Given the description of an element on the screen output the (x, y) to click on. 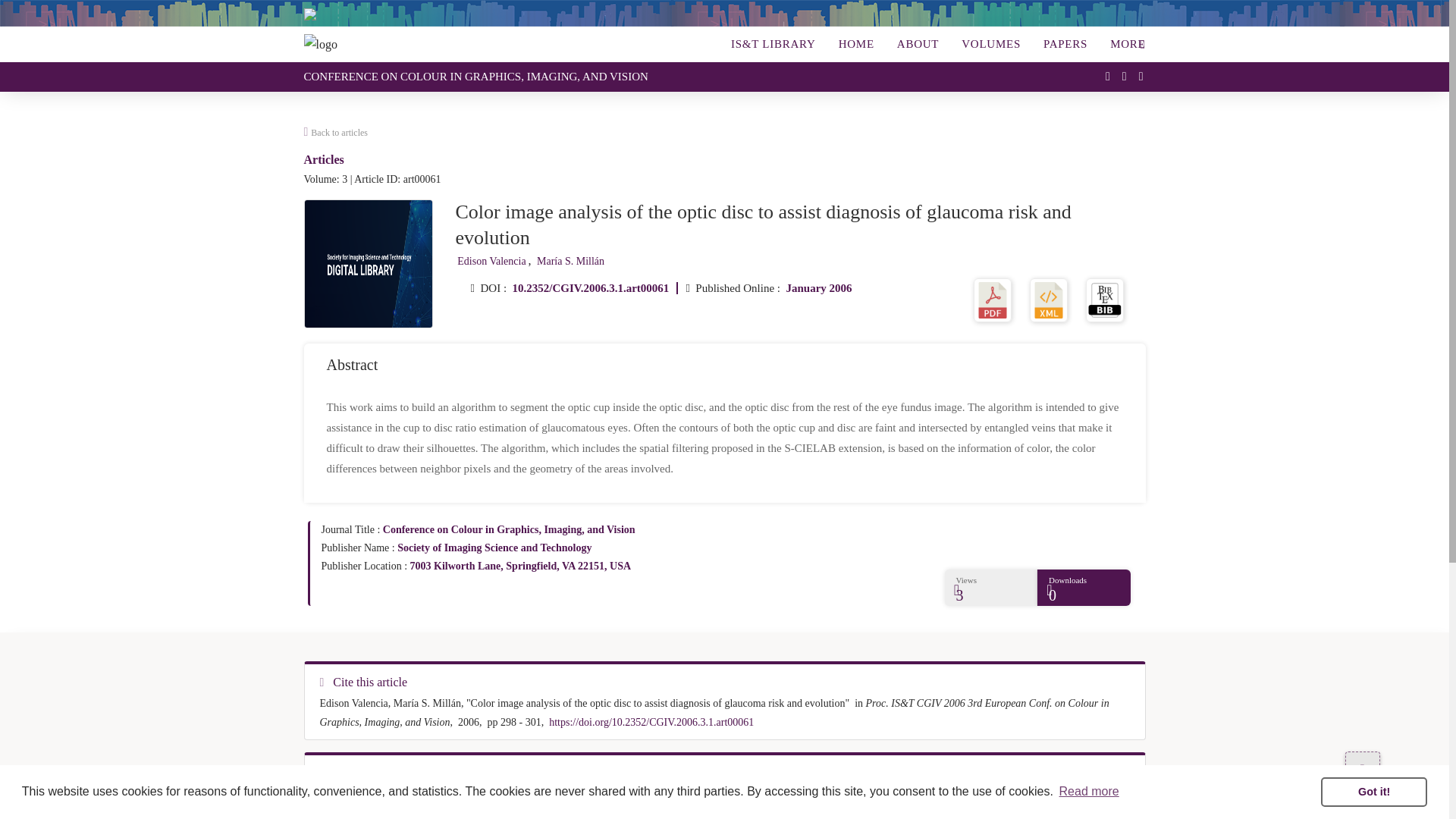
Download XML (1048, 298)
Got it! (1373, 791)
PAPERS (1064, 44)
MORE (1123, 44)
HOME (856, 44)
Read more (1089, 791)
Download PDF (992, 298)
Download BibTeX (1105, 298)
VOLUMES (990, 44)
No article cover image (368, 263)
